Given the description of an element on the screen output the (x, y) to click on. 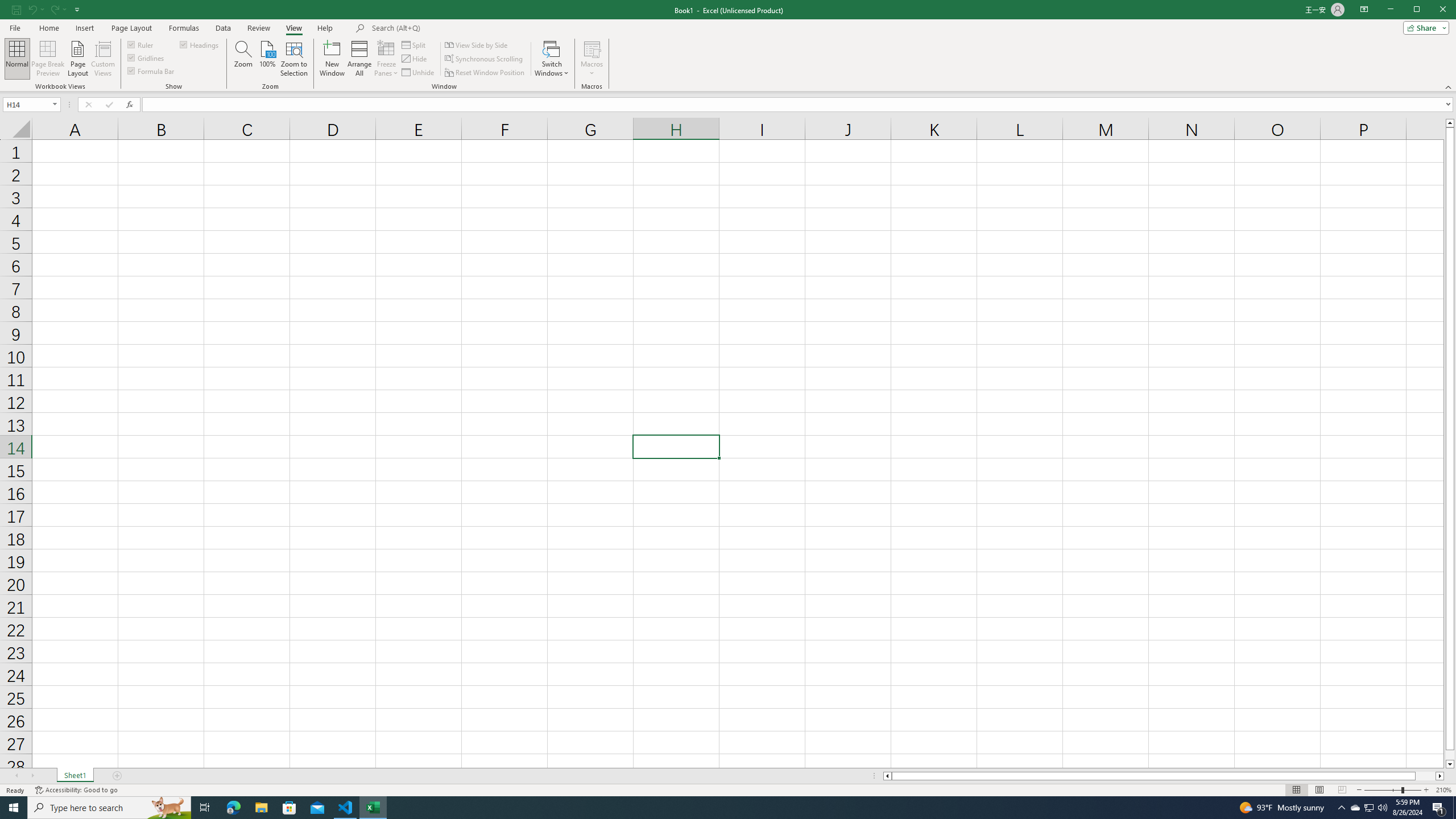
100% (266, 58)
Maximize (1432, 10)
Headings (199, 44)
